Given the description of an element on the screen output the (x, y) to click on. 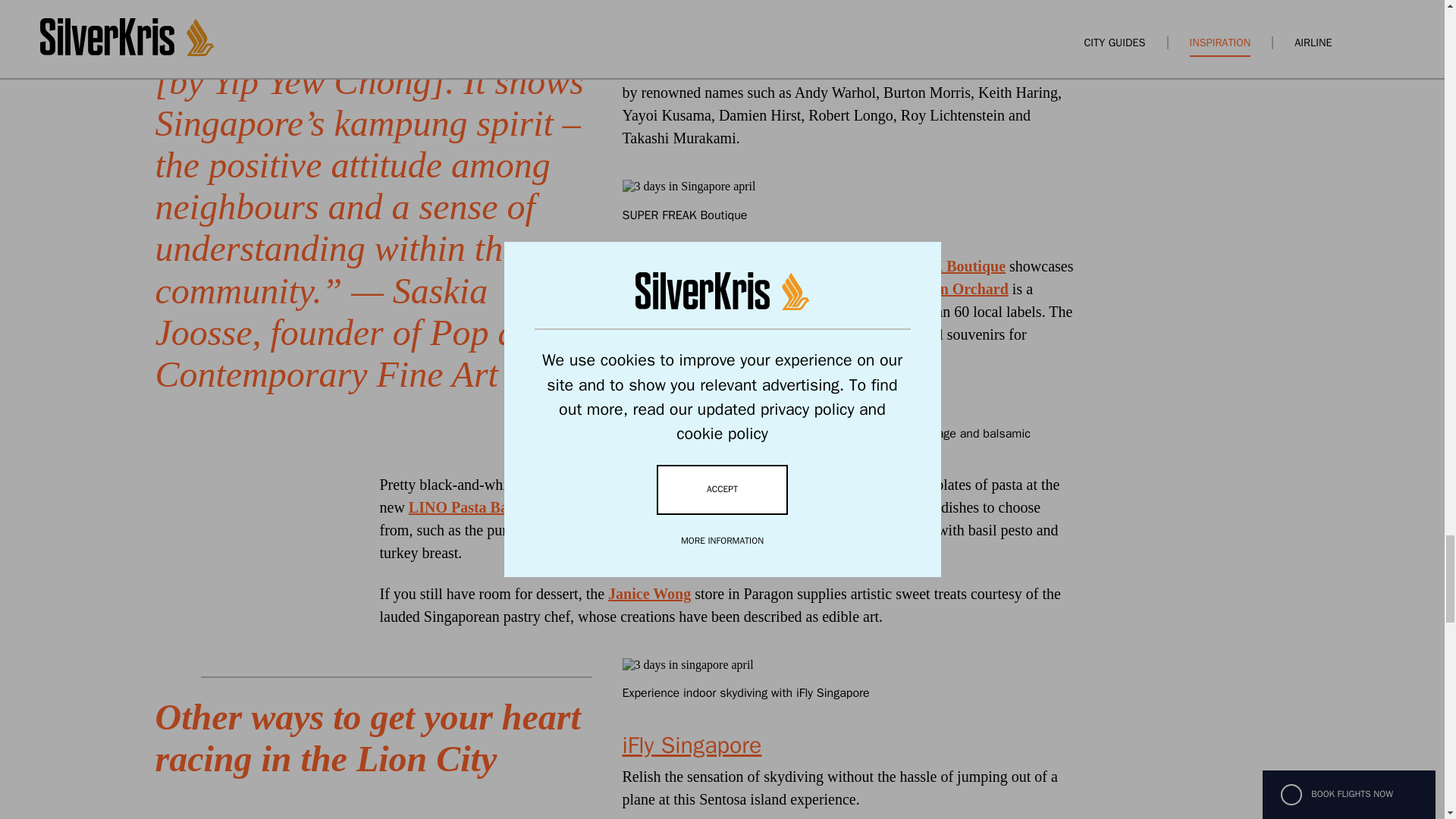
Pop and Contemporary Fine Art (847, 57)
Janice Wong (649, 593)
LINO Pasta Bar (462, 506)
Design Orchard (956, 288)
iFly Singapore (691, 745)
SUPER FREAK Boutique (920, 265)
